Given the description of an element on the screen output the (x, y) to click on. 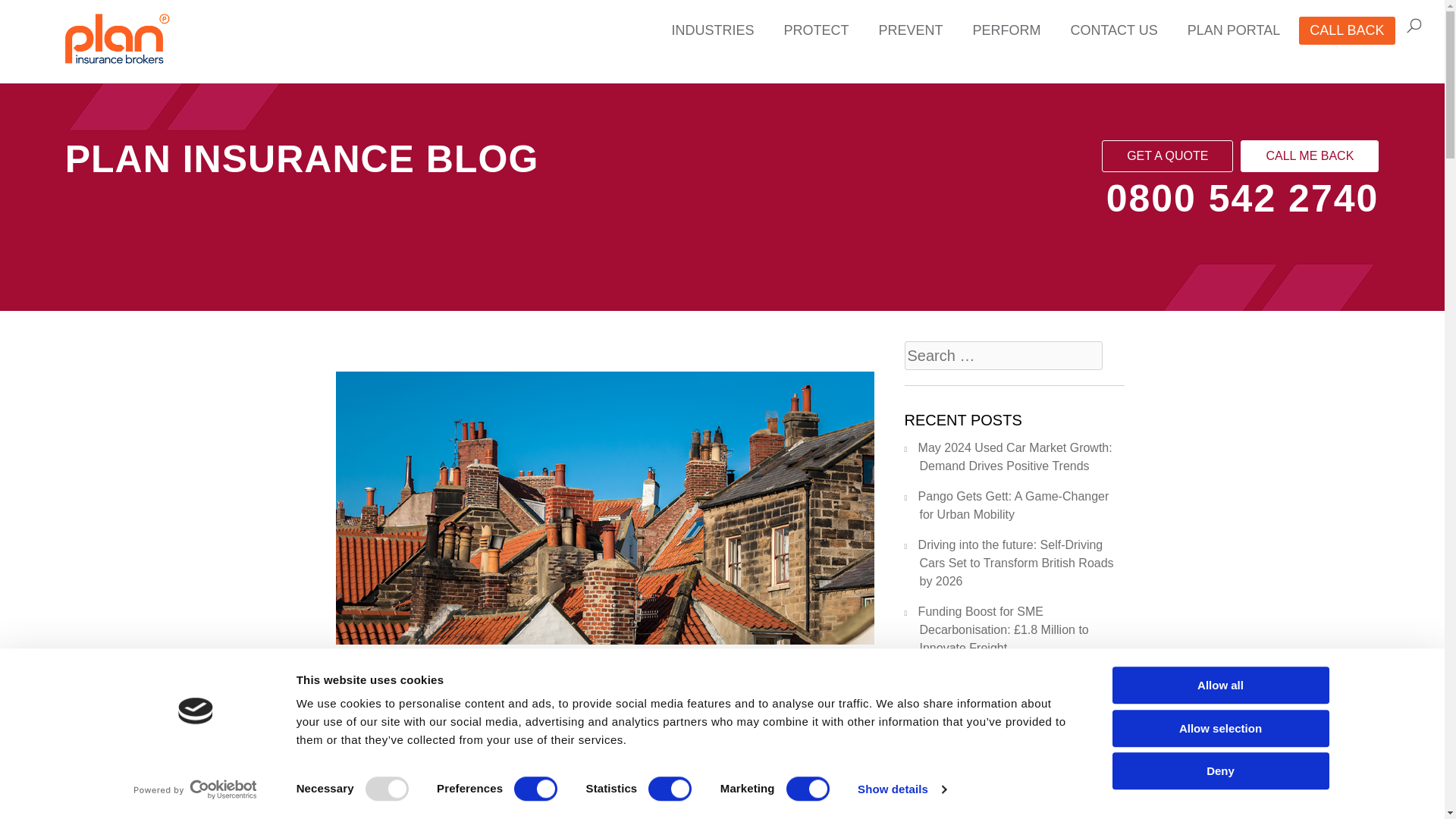
Show details (900, 789)
